Given the description of an element on the screen output the (x, y) to click on. 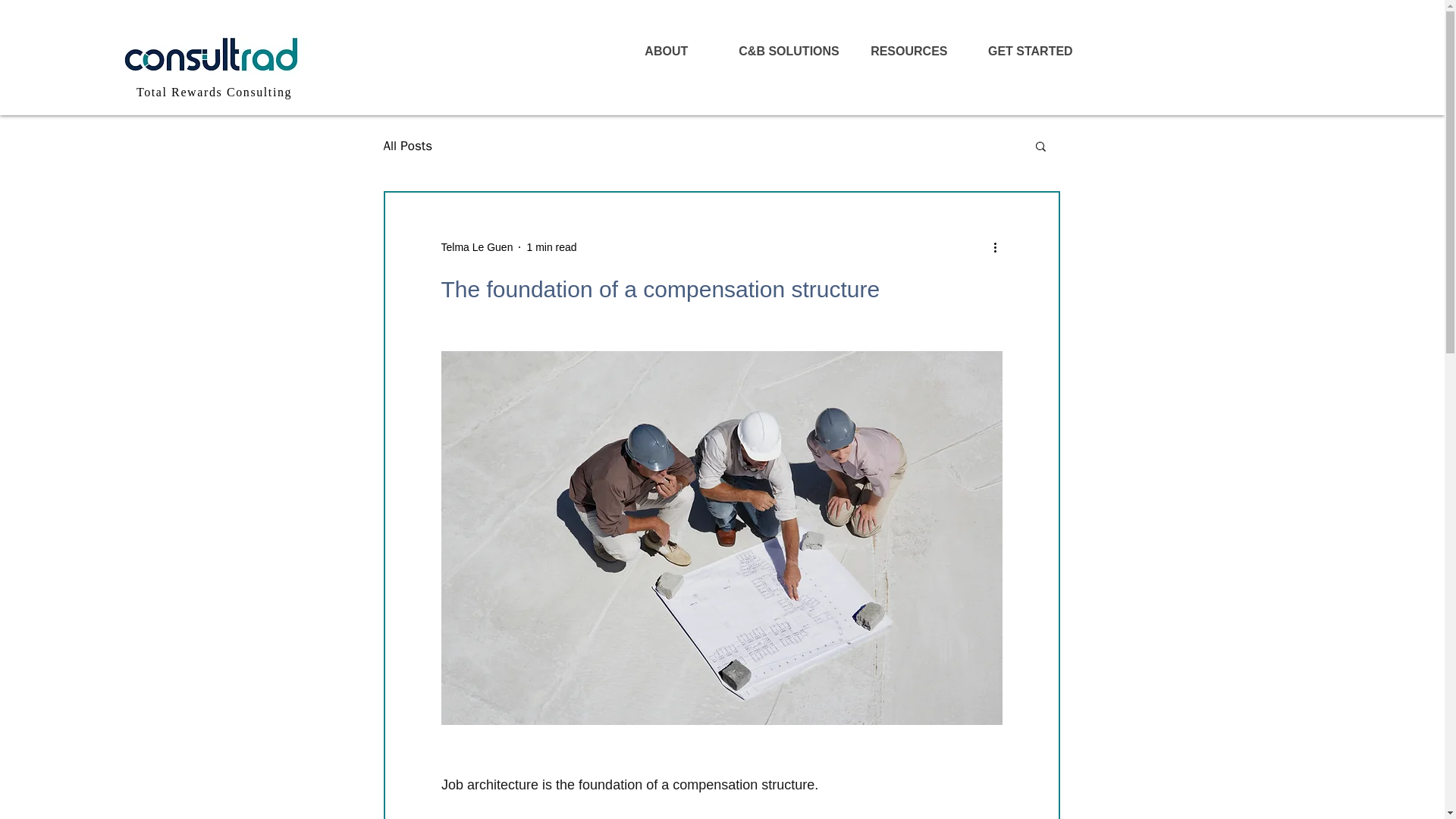
Telma Le Guen (477, 247)
1 min read (550, 246)
ABOUT (665, 51)
GET STARTED (1029, 51)
RESOURCES (908, 51)
All Posts (408, 144)
